Given the description of an element on the screen output the (x, y) to click on. 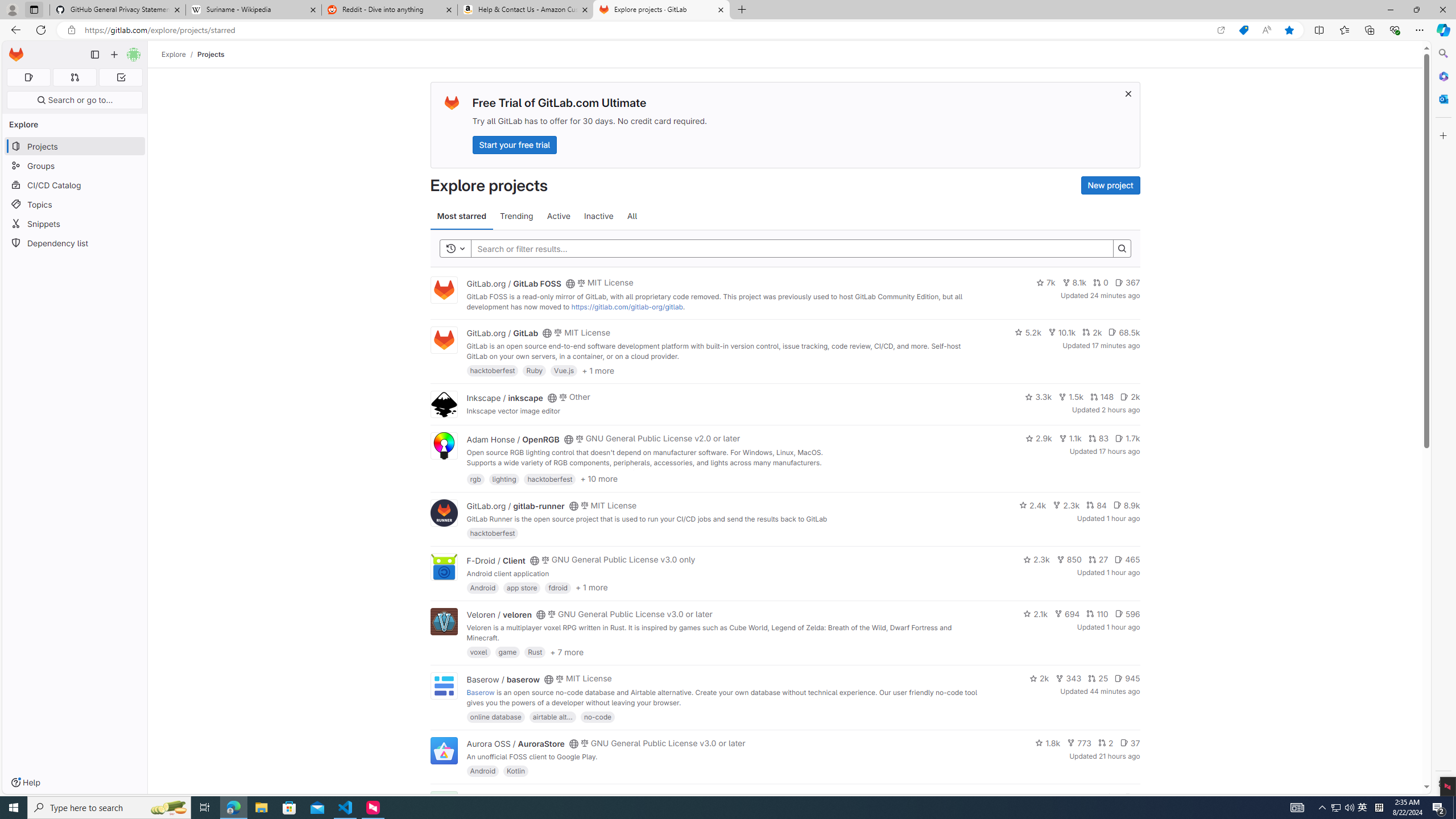
694 (1067, 613)
Class: project (443, 750)
367 (1127, 282)
Trending (516, 216)
Suriname - Wikipedia (253, 9)
F-Droid / Client (495, 560)
Homepage (16, 54)
no-code (597, 715)
game (507, 651)
Most starred (461, 216)
